Given the description of an element on the screen output the (x, y) to click on. 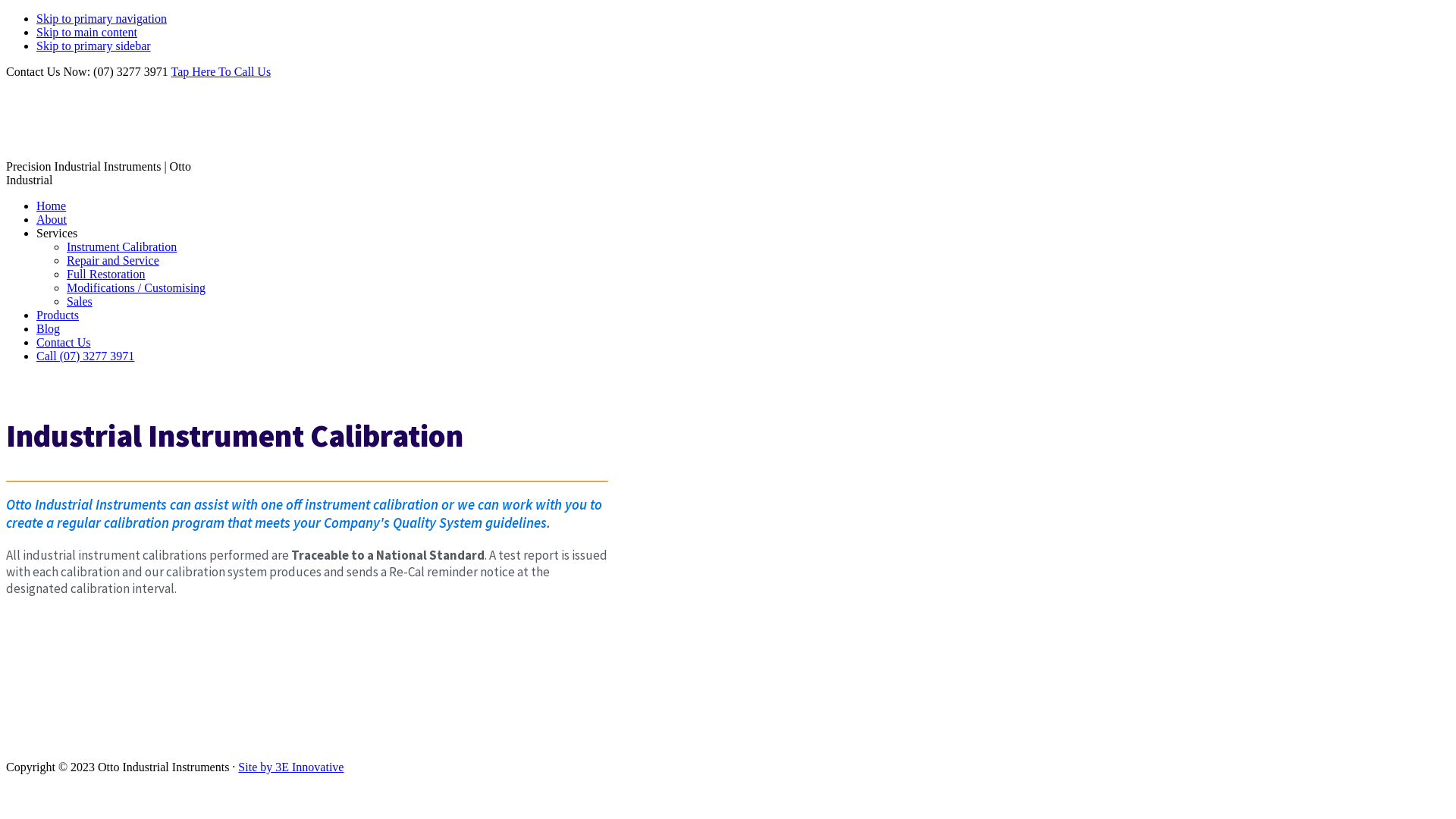
Full Restoration Element type: text (105, 273)
Instrument Calibration Element type: text (121, 246)
Home Element type: text (50, 205)
Tap Here To Call Us Element type: text (220, 71)
Skip to primary sidebar Element type: text (93, 45)
Call (07) 3277 3971 Element type: text (85, 355)
Services Element type: text (56, 232)
Sales Element type: text (79, 300)
Repair and Service Element type: text (112, 260)
Calibration of Industrial Precision Instruments Element type: hover (119, 666)
Products Element type: text (57, 314)
Skip to main content Element type: text (86, 31)
Skip to primary navigation Element type: text (101, 18)
About Element type: text (51, 219)
Contact Us Element type: text (63, 341)
Blog Element type: text (47, 328)
Modifications / Customising Element type: text (135, 287)
Site by 3E Innovative Element type: text (290, 766)
